Given the description of an element on the screen output the (x, y) to click on. 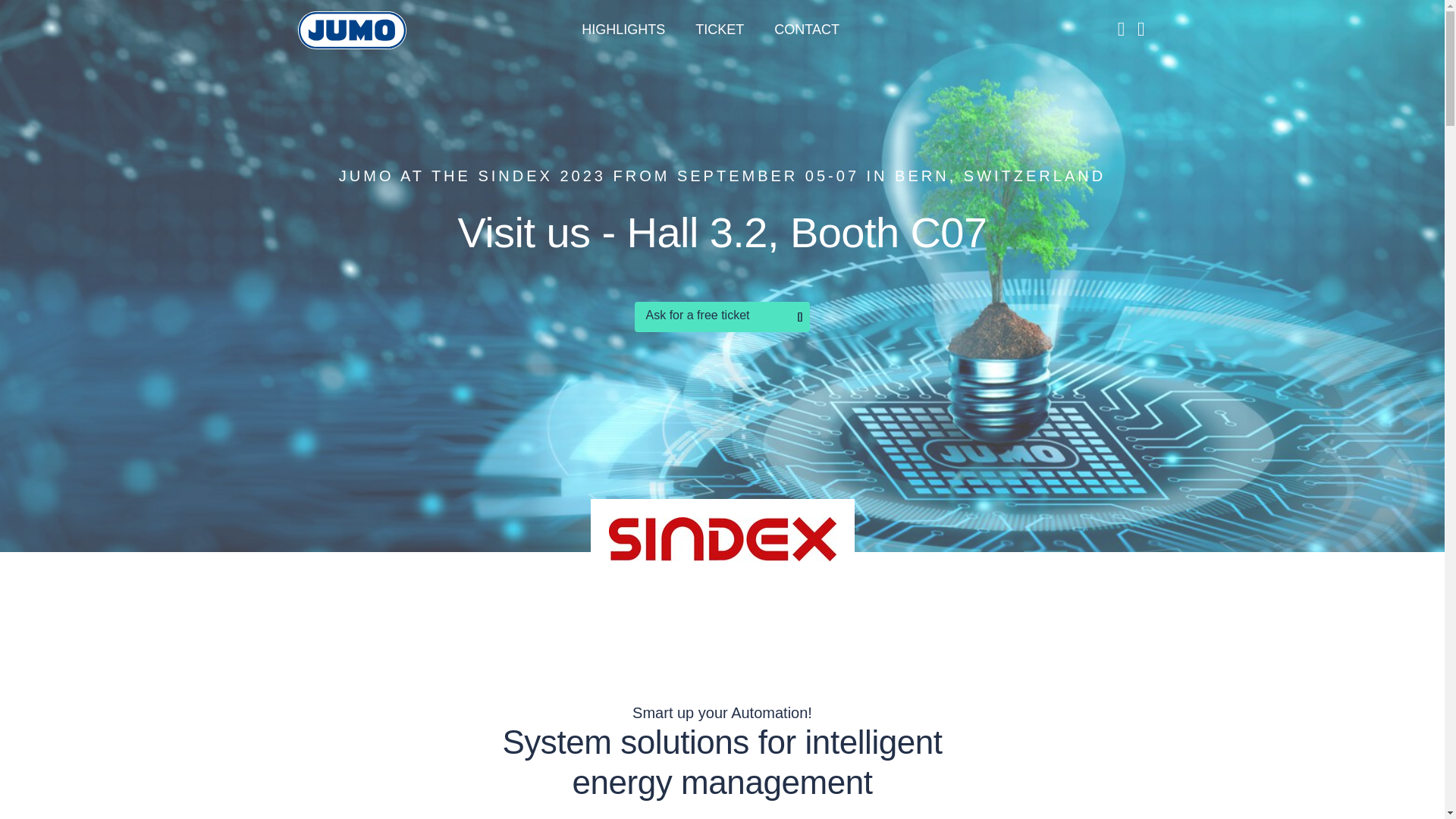
CONTACT (807, 29)
TICKET (719, 29)
HIGHLIGHTS (622, 29)
